Given the description of an element on the screen output the (x, y) to click on. 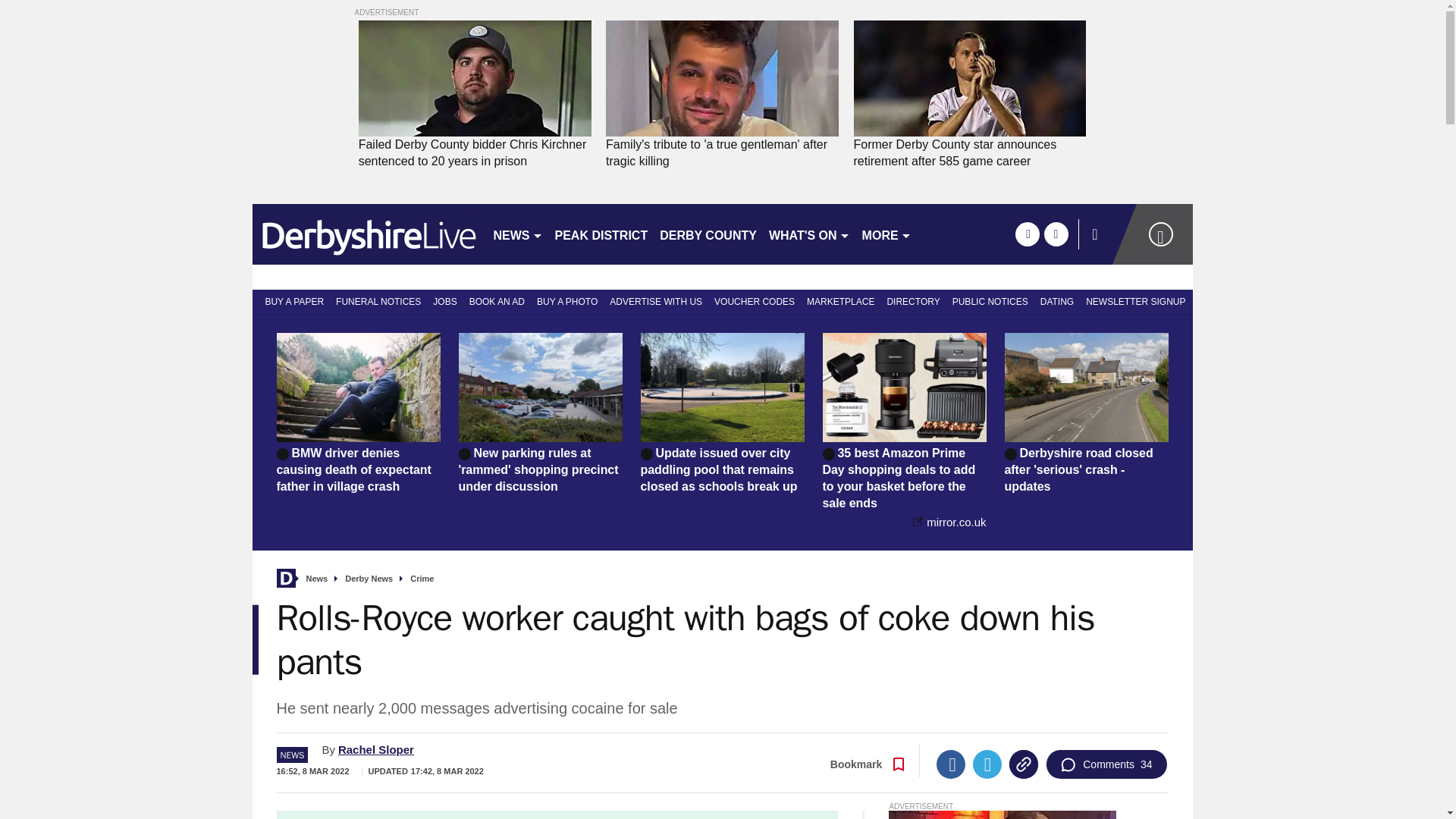
facebook (1026, 233)
Family's tribute to 'a true gentleman' after tragic killing (721, 152)
Twitter (986, 764)
WHAT'S ON (809, 233)
PEAK DISTRICT (600, 233)
twitter (1055, 233)
MORE (886, 233)
Facebook (950, 764)
Family's tribute to 'a true gentleman' after tragic killing (721, 152)
Comments (1105, 764)
